Given the description of an element on the screen output the (x, y) to click on. 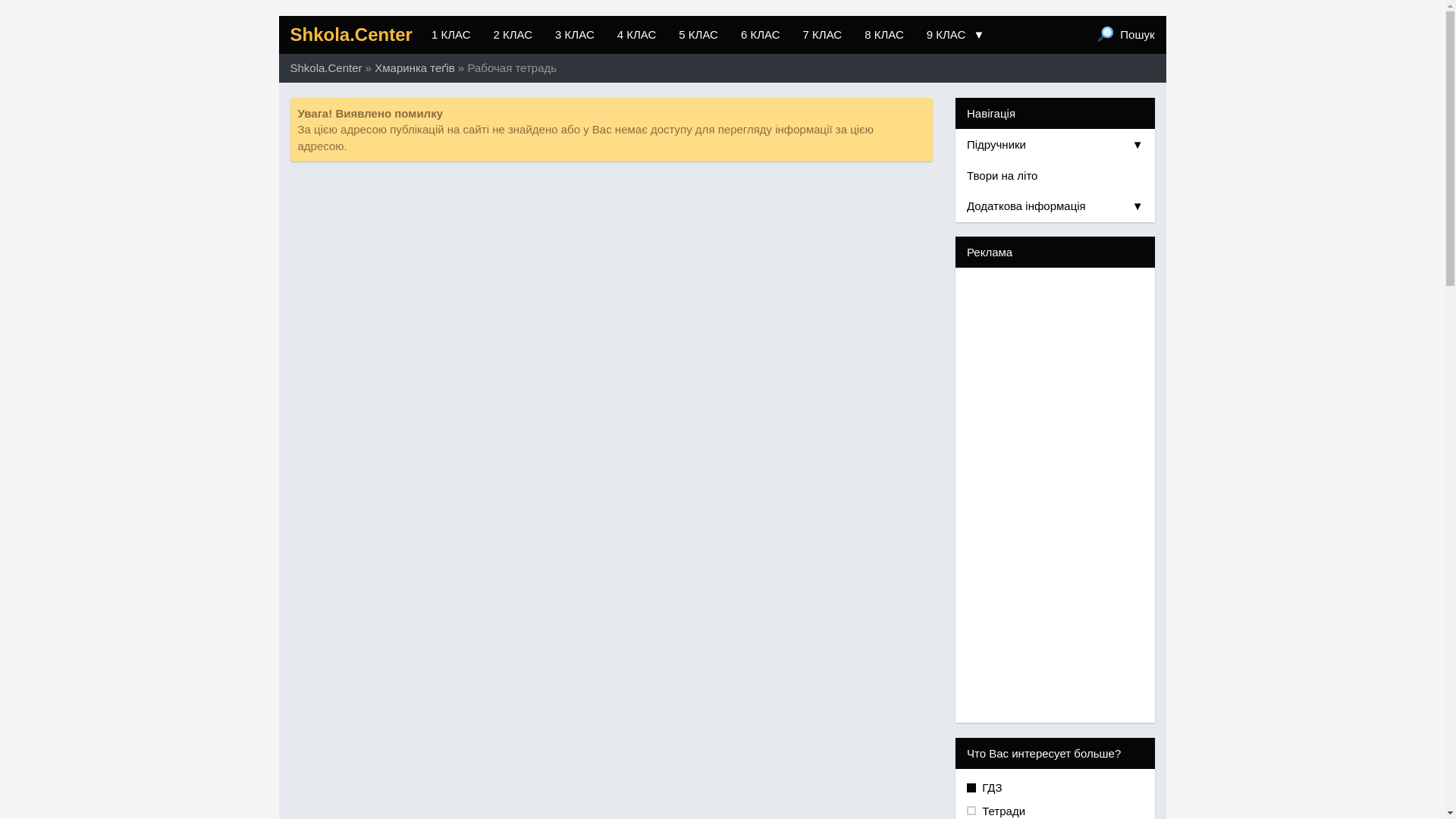
Shkola.Center Element type: text (325, 67)
Shkola.Center Element type: text (351, 34)
Advertisement Element type: hover (1054, 494)
